Given the description of an element on the screen output the (x, y) to click on. 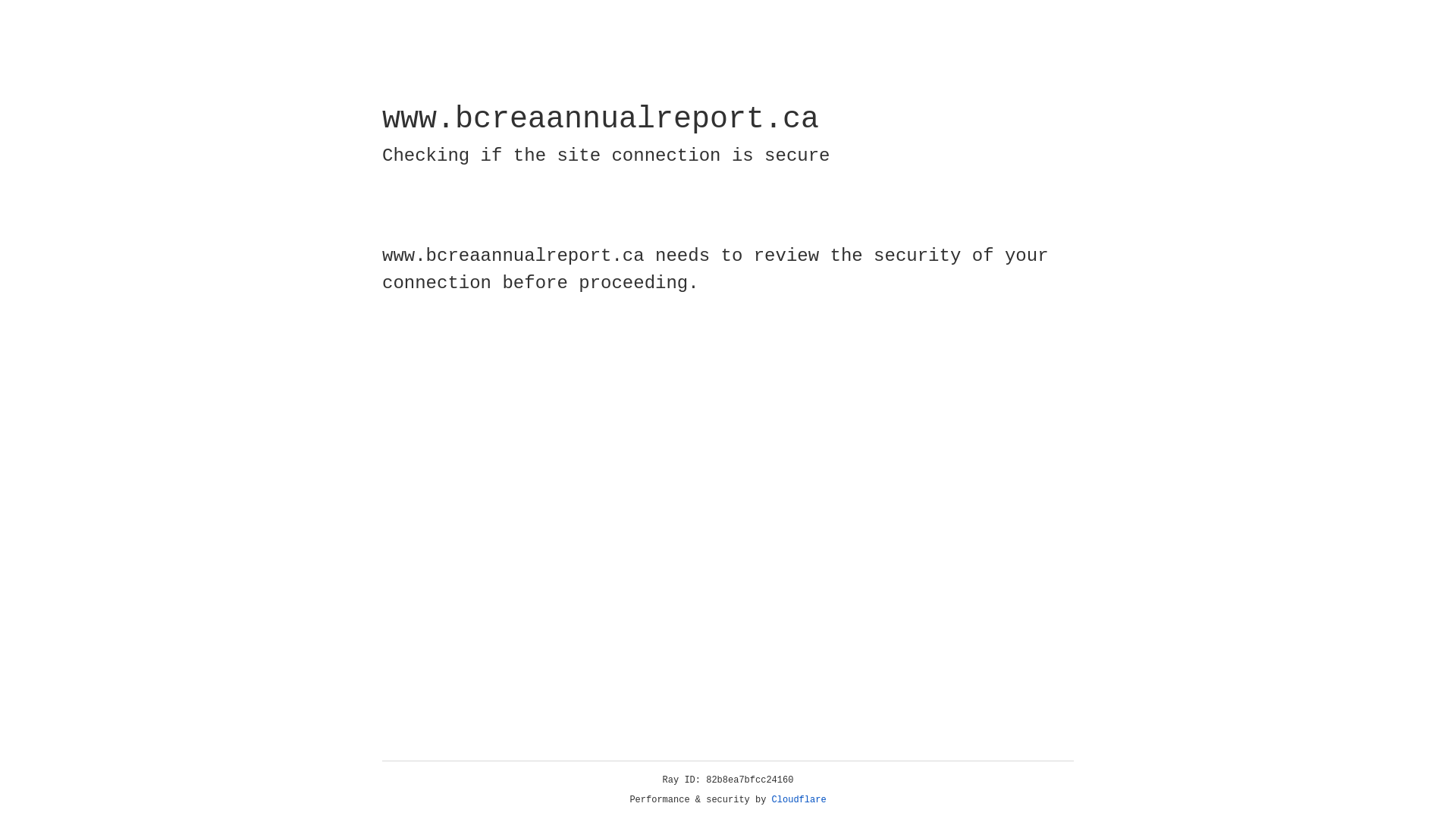
Cloudflare Element type: text (798, 799)
